Given the description of an element on the screen output the (x, y) to click on. 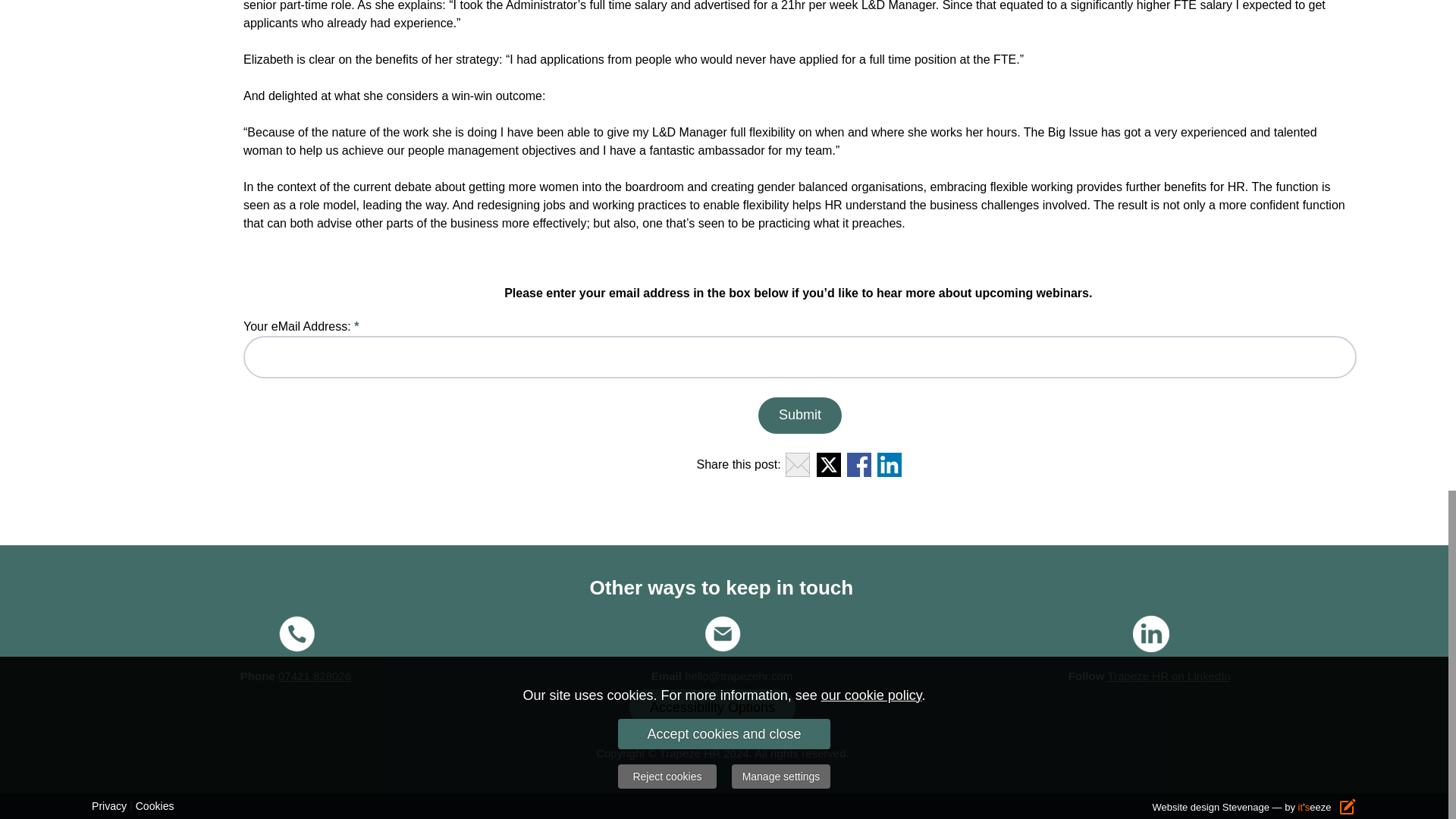
Website design Stevenage (1211, 807)
Cookies (154, 805)
Accessibility Options (711, 707)
Trapeze HR on LinkedIn (1169, 675)
Submit (799, 415)
Privacy (108, 805)
07421 828026 (314, 675)
